Given the description of an element on the screen output the (x, y) to click on. 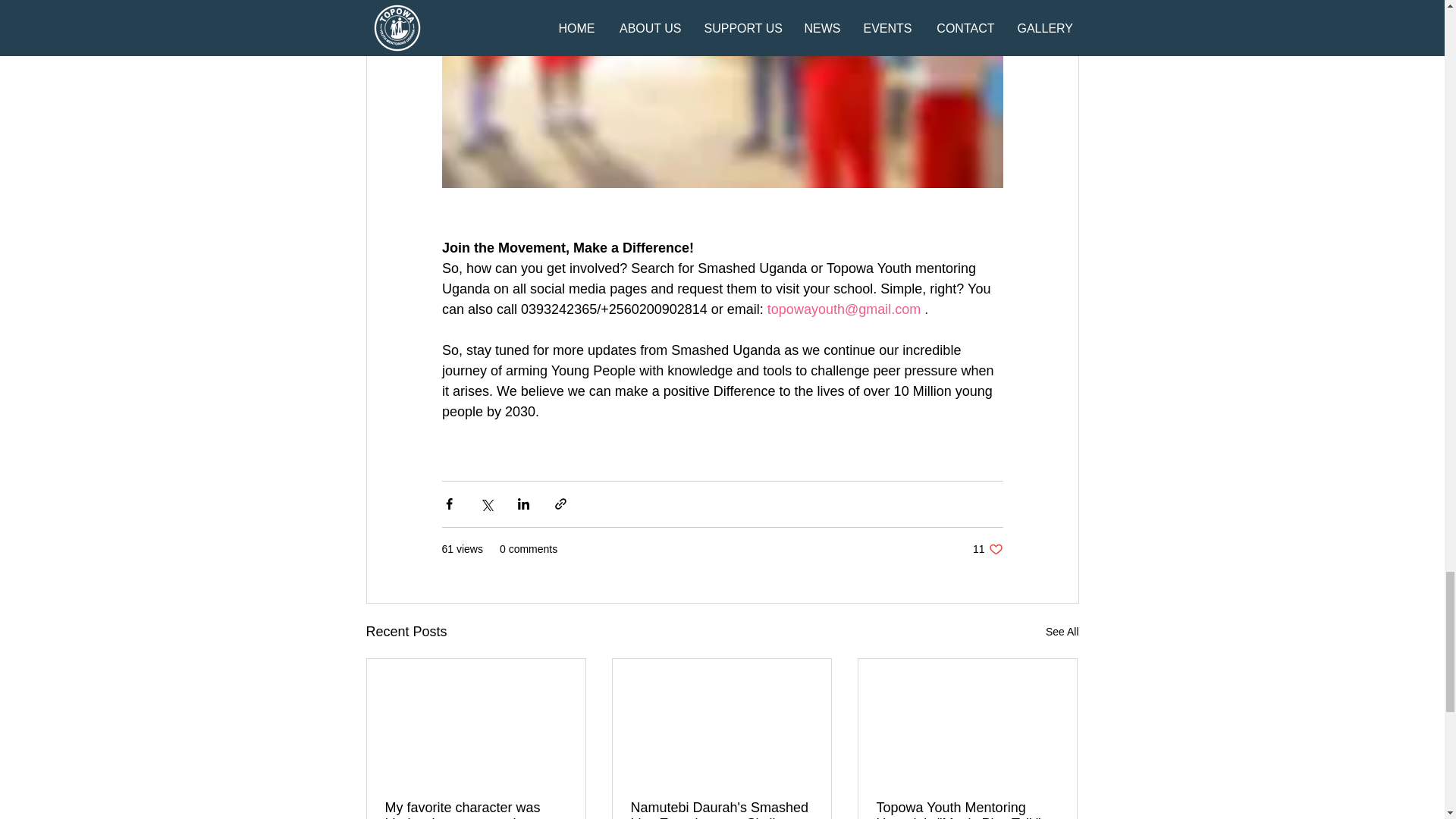
See All (987, 549)
